Given the description of an element on the screen output the (x, y) to click on. 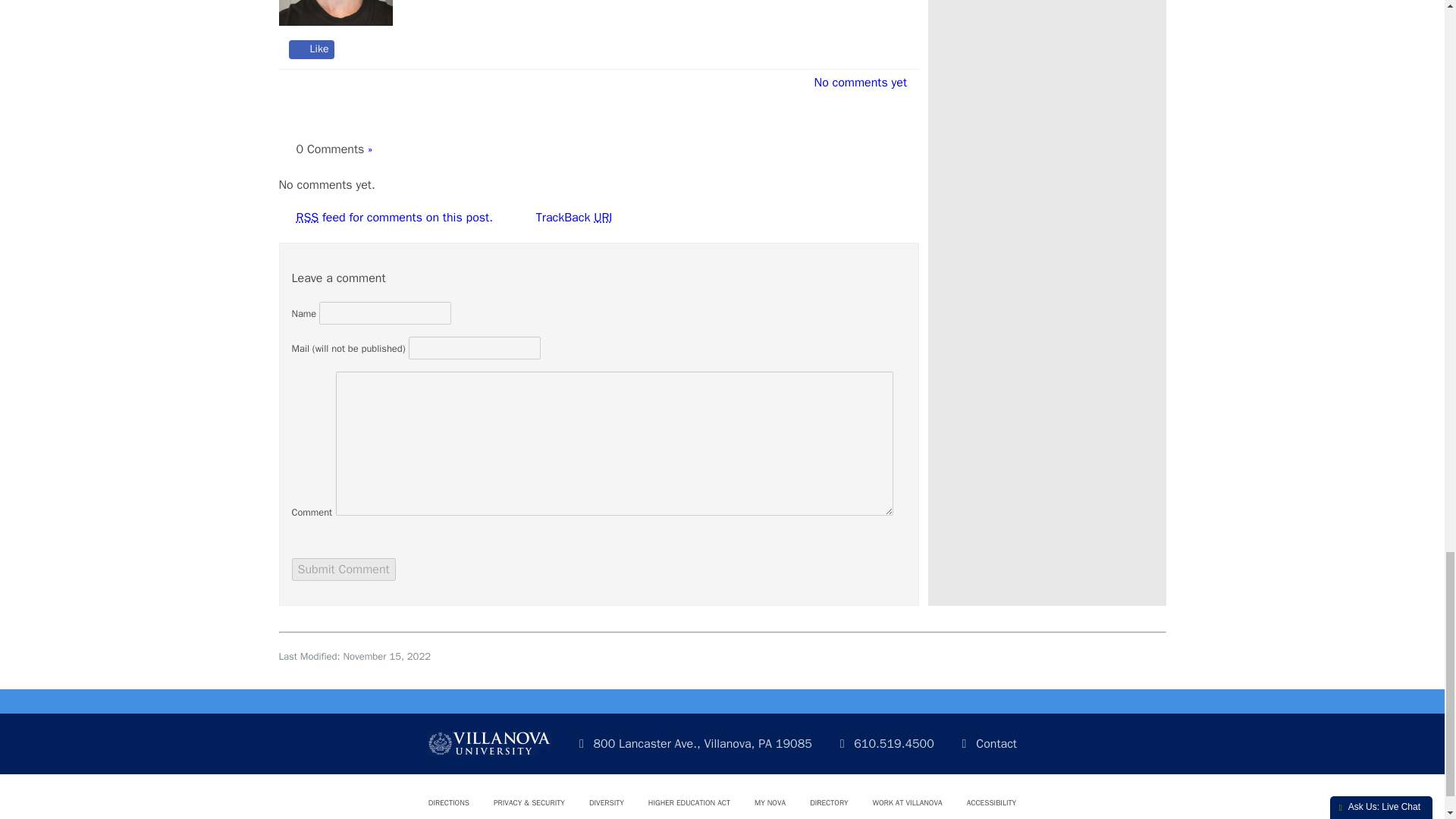
Submit Comment (342, 568)
TrackBack URI (569, 216)
Uniform Resource Identifier (602, 217)
Contact (976, 734)
RSS feed for comments on this post. (393, 217)
Really Simple Syndication (306, 217)
No comments yet (855, 82)
Submit Comment (342, 568)
